Given the description of an element on the screen output the (x, y) to click on. 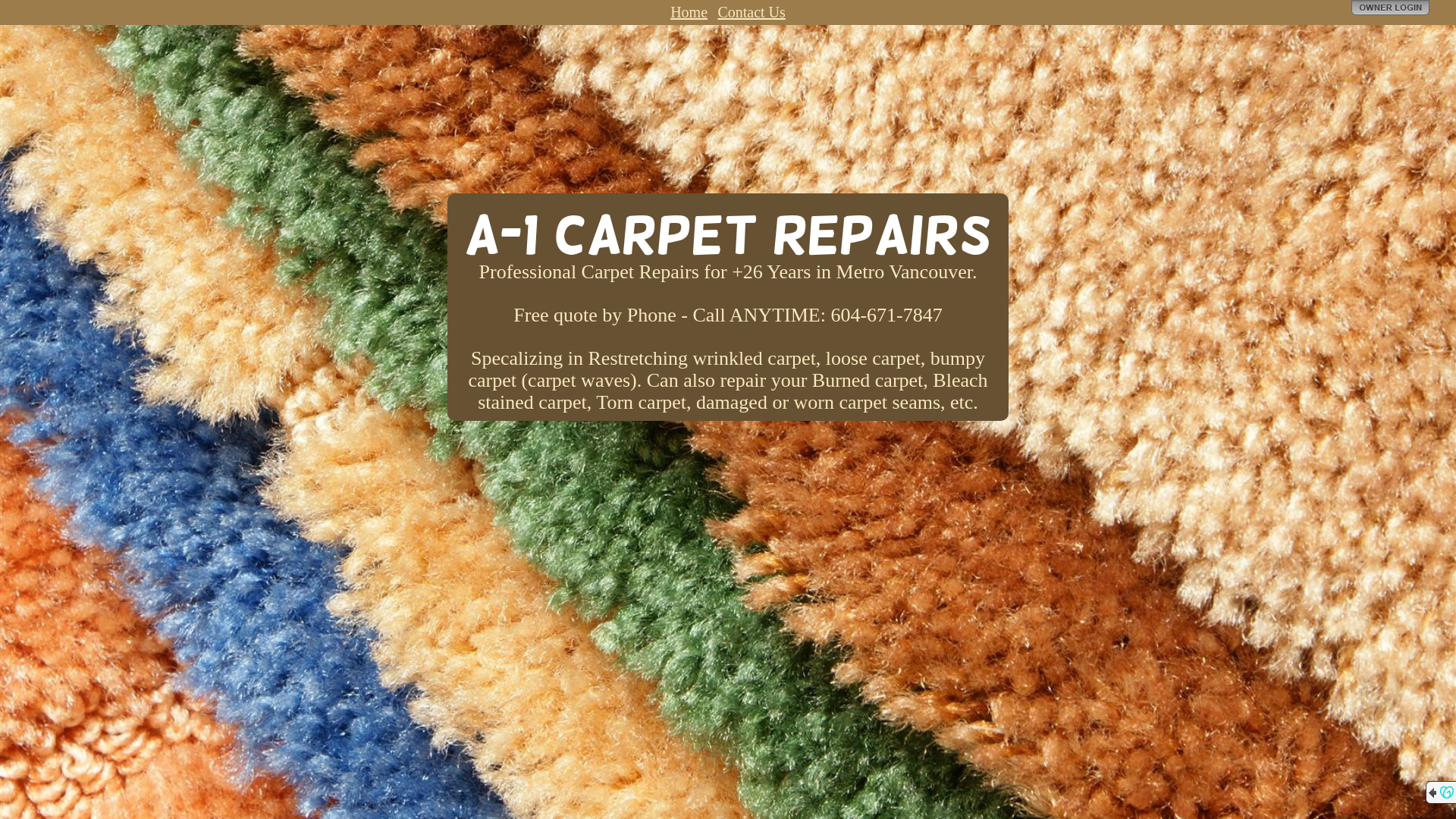
Home Element type: text (688, 11)
Contact Us Element type: text (750, 11)
